Given the description of an element on the screen output the (x, y) to click on. 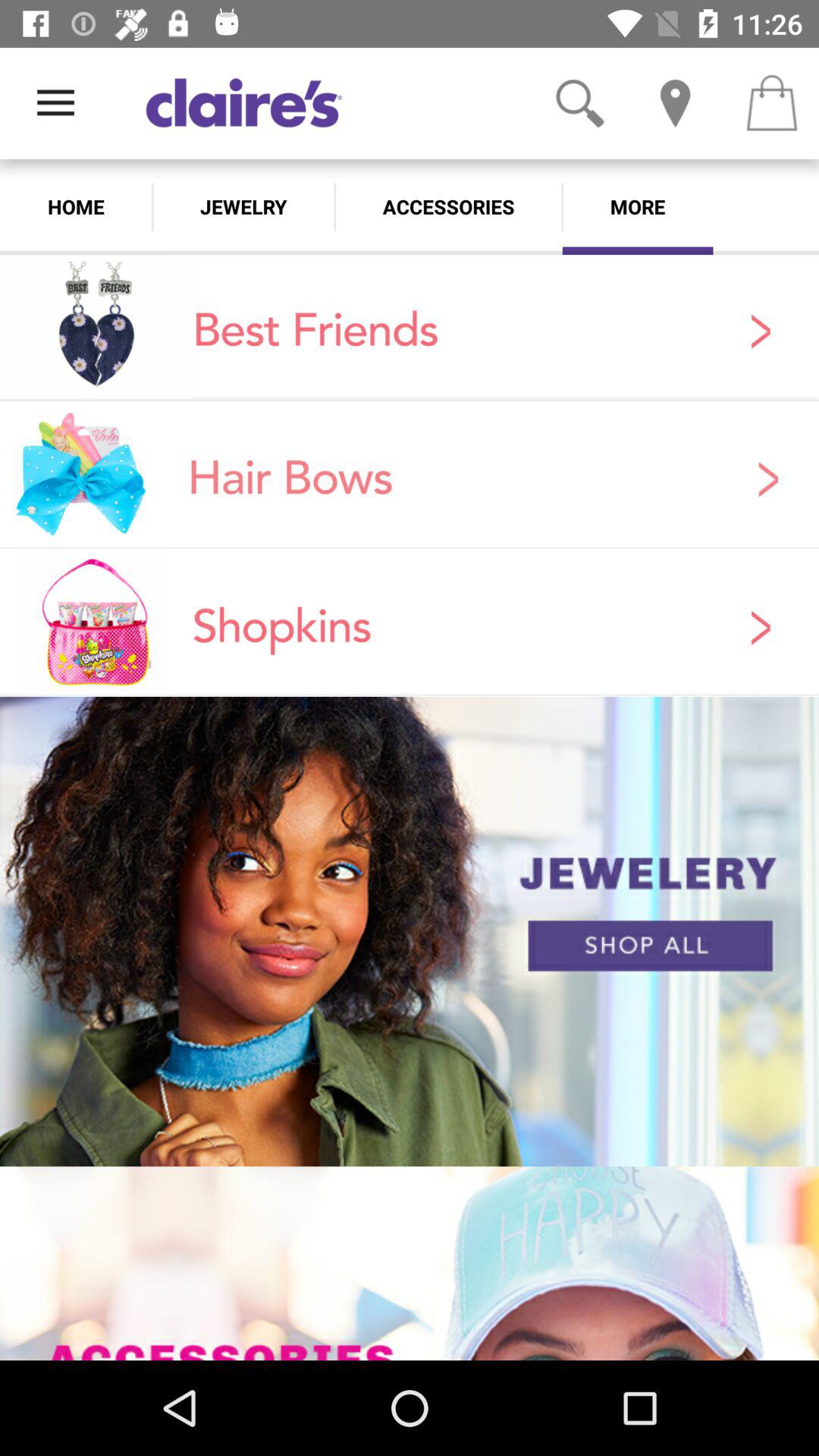
flip until accessories (448, 206)
